Given the description of an element on the screen output the (x, y) to click on. 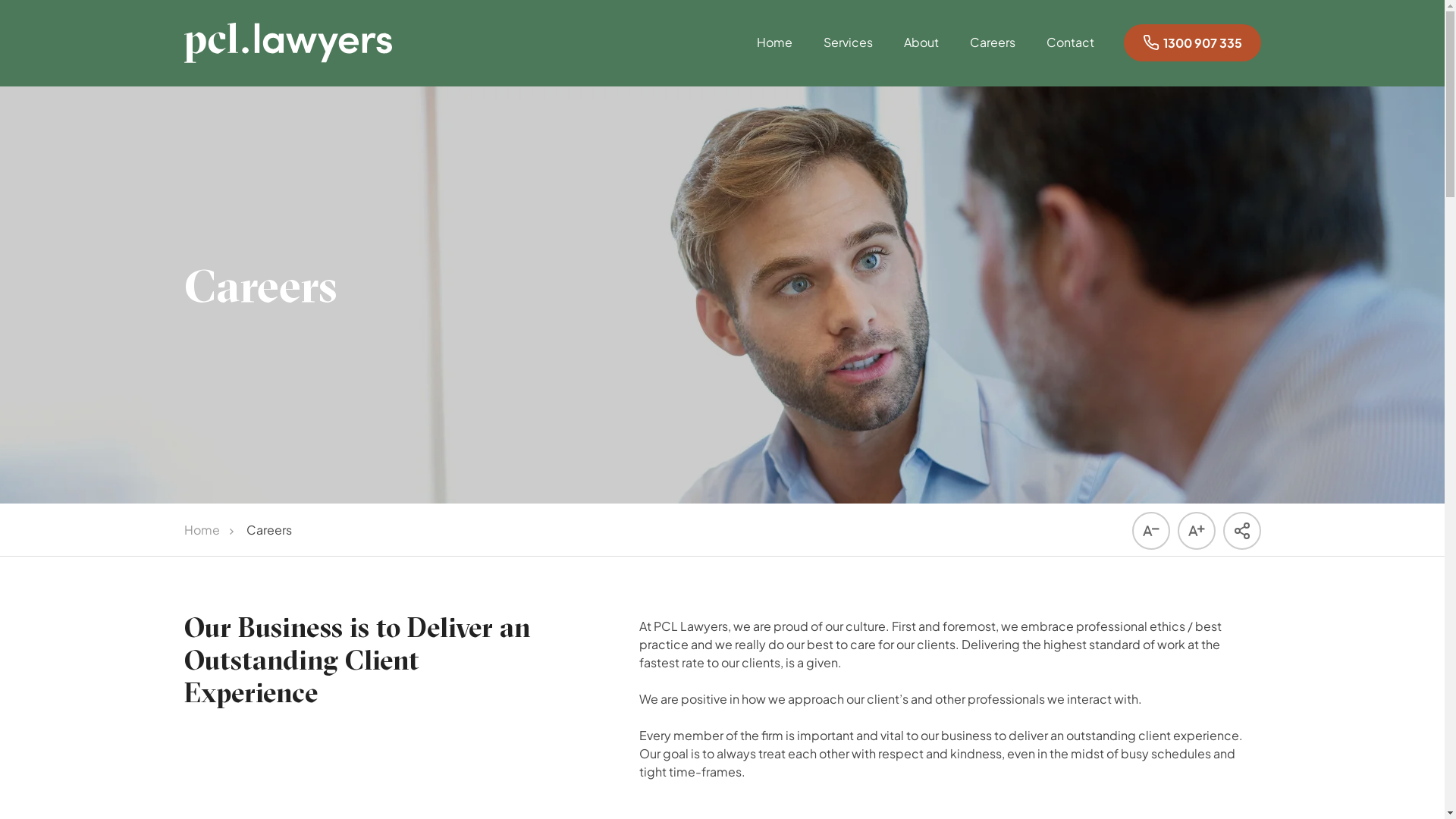
Contact Element type: text (1070, 57)
Home Element type: text (201, 529)
Careers Element type: text (991, 57)
Services Element type: text (847, 57)
Home Element type: text (774, 57)
PCL Lawyers Element type: hover (287, 42)
About Element type: text (920, 57)
1300 907 335 Element type: text (1192, 42)
